Given the description of an element on the screen output the (x, y) to click on. 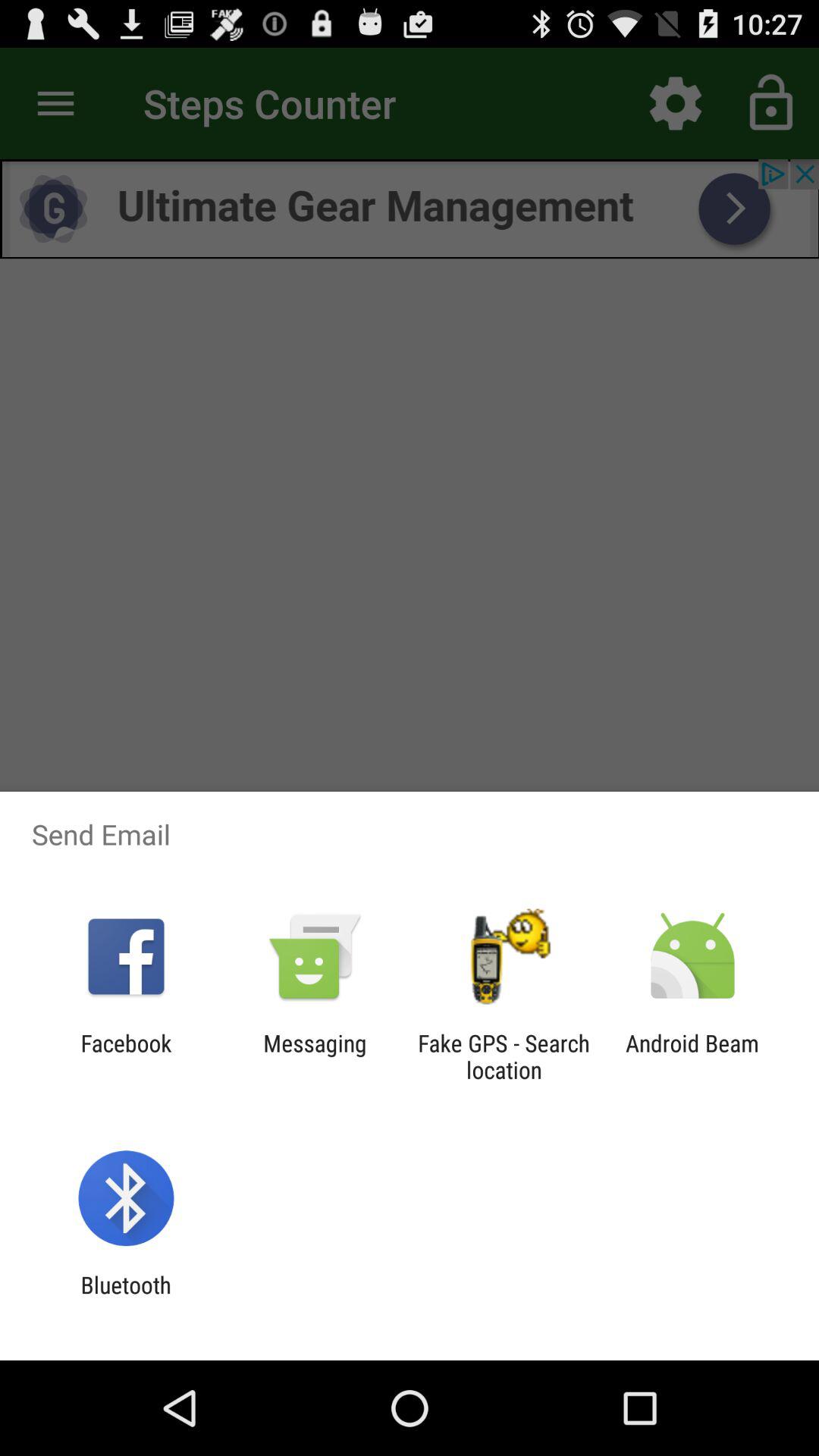
open item to the right of the fake gps search item (692, 1056)
